Given the description of an element on the screen output the (x, y) to click on. 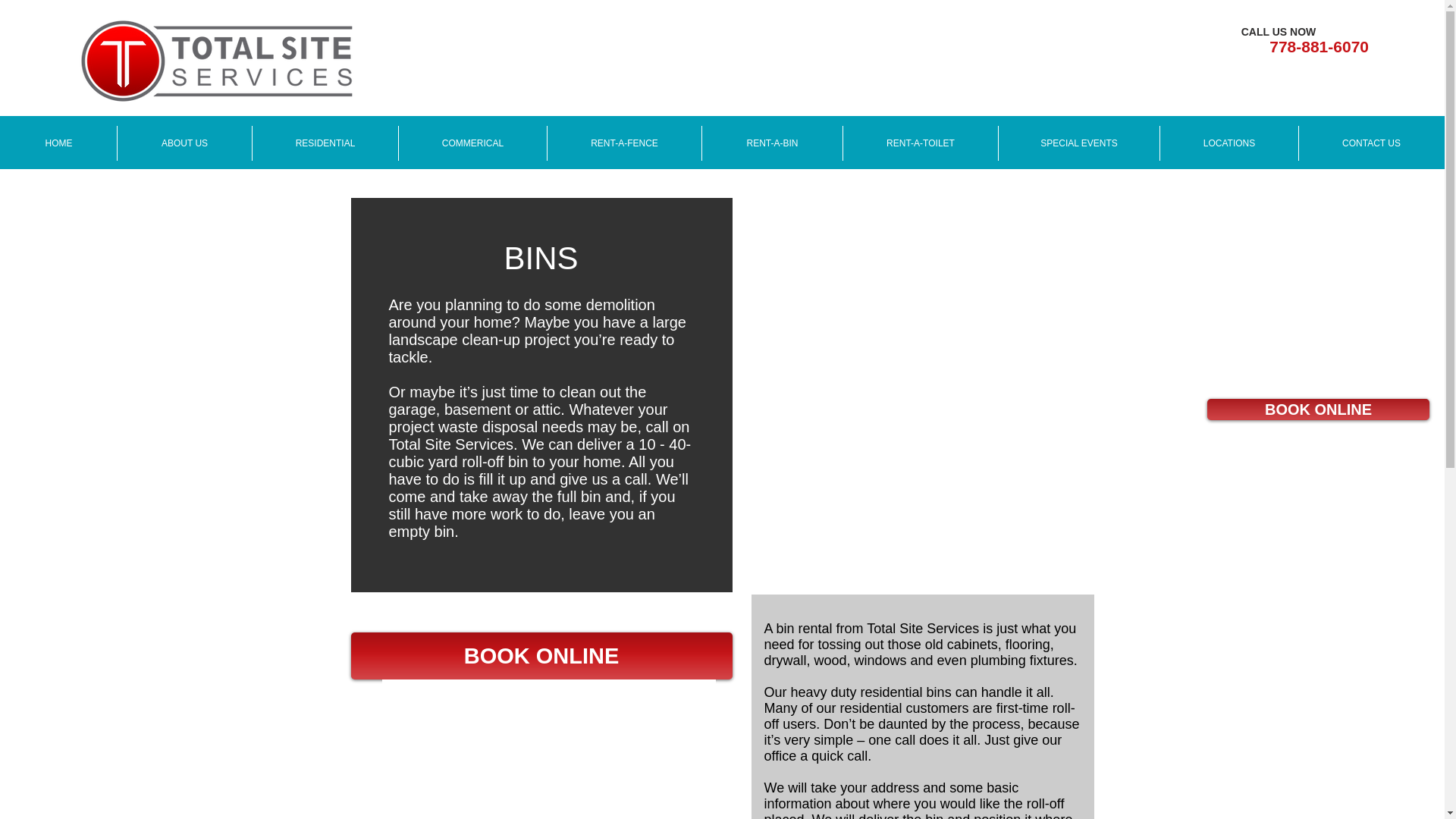
LOCATIONS (1228, 143)
CONTACT US (1371, 143)
RENT-A-BIN (772, 143)
COMMERICAL (472, 143)
BOOK ONLINE (1318, 409)
RESIDENTIAL (324, 143)
ABOUT US (183, 143)
SPECIAL EVENTS (1077, 143)
HOME (58, 143)
BOOK ONLINE (541, 655)
